Given the description of an element on the screen output the (x, y) to click on. 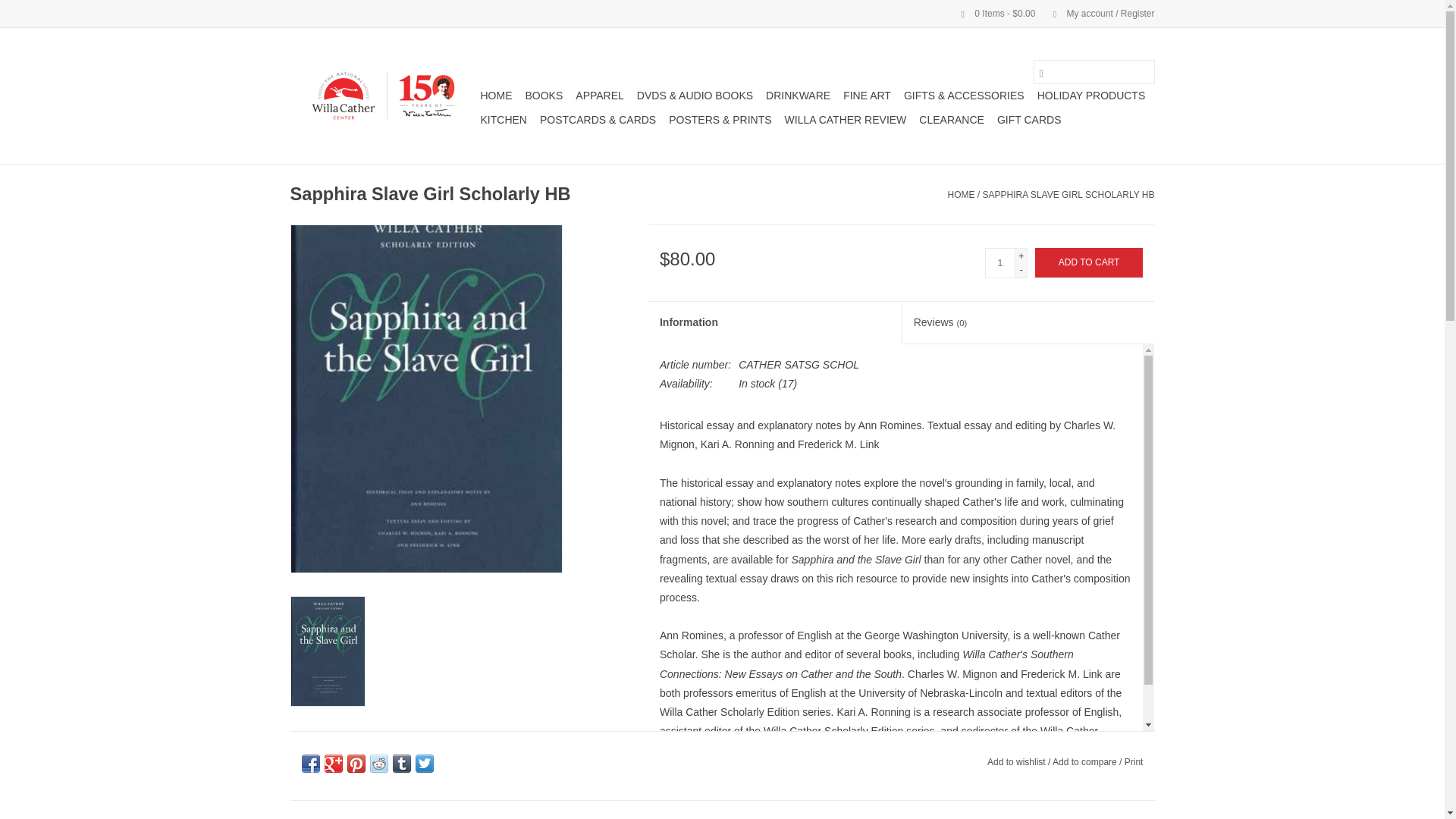
My account (1096, 13)
GIFT CARDS (1028, 119)
HOLIDAY PRODUCTS (1091, 95)
DRINKWARE (797, 95)
HOME (496, 95)
BOOKS (543, 95)
WILLA CATHER REVIEW (845, 119)
Information (774, 322)
HOME (961, 194)
Drinkware (797, 95)
KITCHEN (503, 119)
Books (543, 95)
1 (999, 263)
Cart (992, 13)
FINE ART (866, 95)
